Given the description of an element on the screen output the (x, y) to click on. 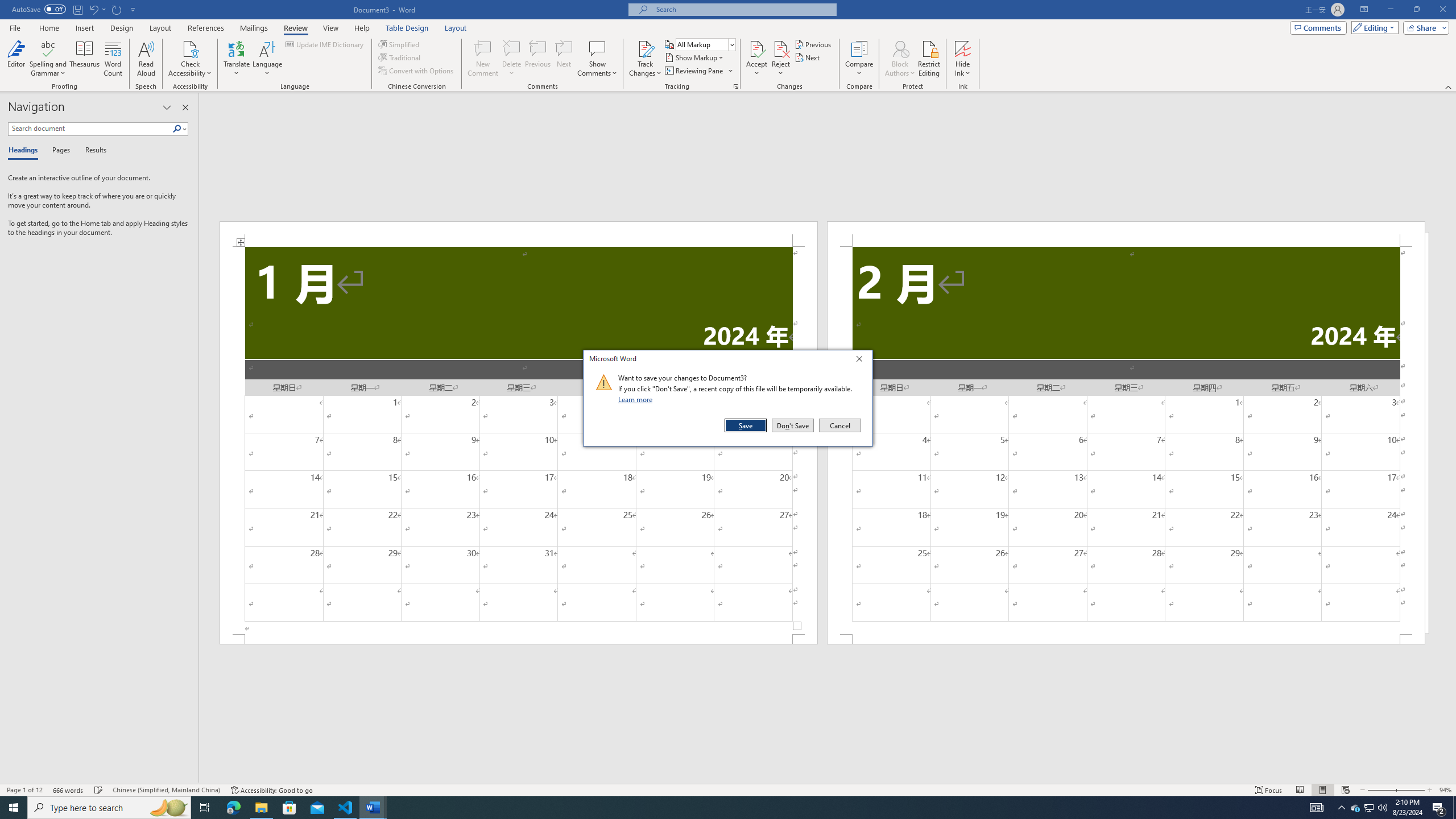
Open (731, 44)
Microsoft search (742, 9)
Focus  (1268, 790)
Translate (236, 58)
Comments (1318, 27)
Review (1368, 807)
Running applications (295, 28)
Previous (717, 807)
Microsoft Store (813, 44)
Spelling and Grammar Check Checking (289, 807)
Language (98, 790)
Zoom Out (267, 58)
Home (1380, 790)
Task View (48, 28)
